Given the description of an element on the screen output the (x, y) to click on. 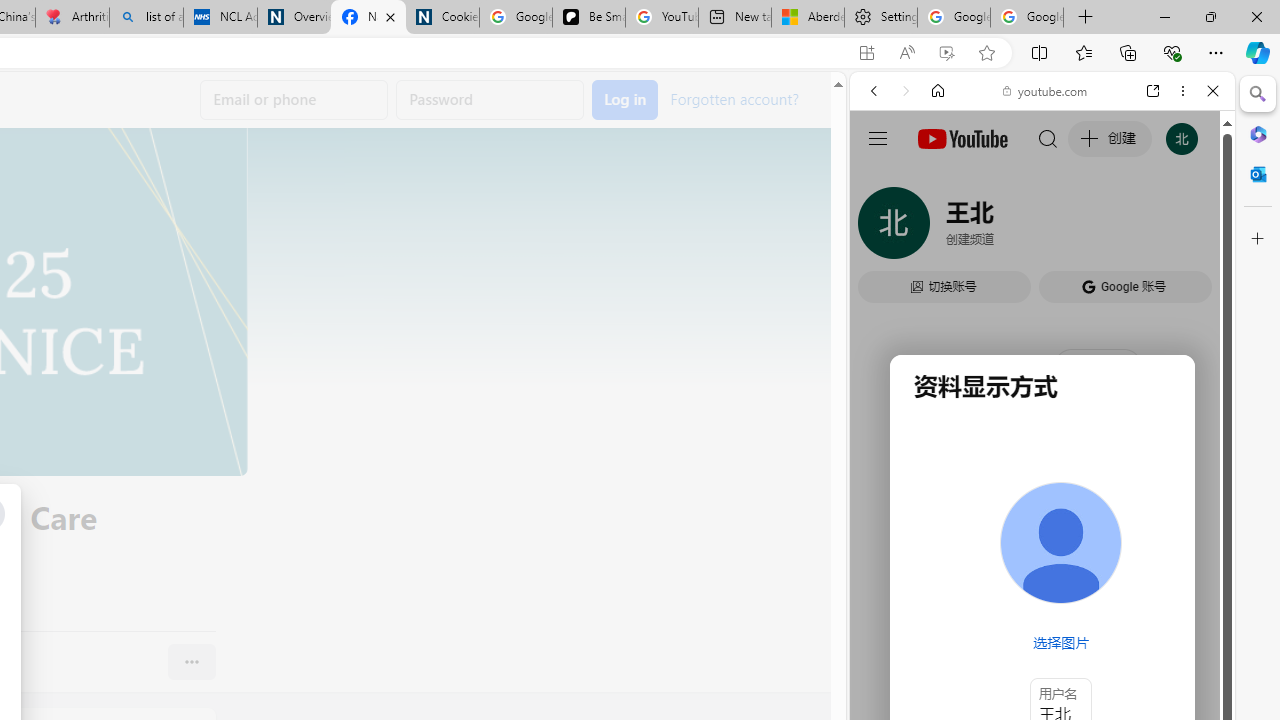
Show More Music (1164, 546)
Forgotten account? (733, 97)
